Given the description of an element on the screen output the (x, y) to click on. 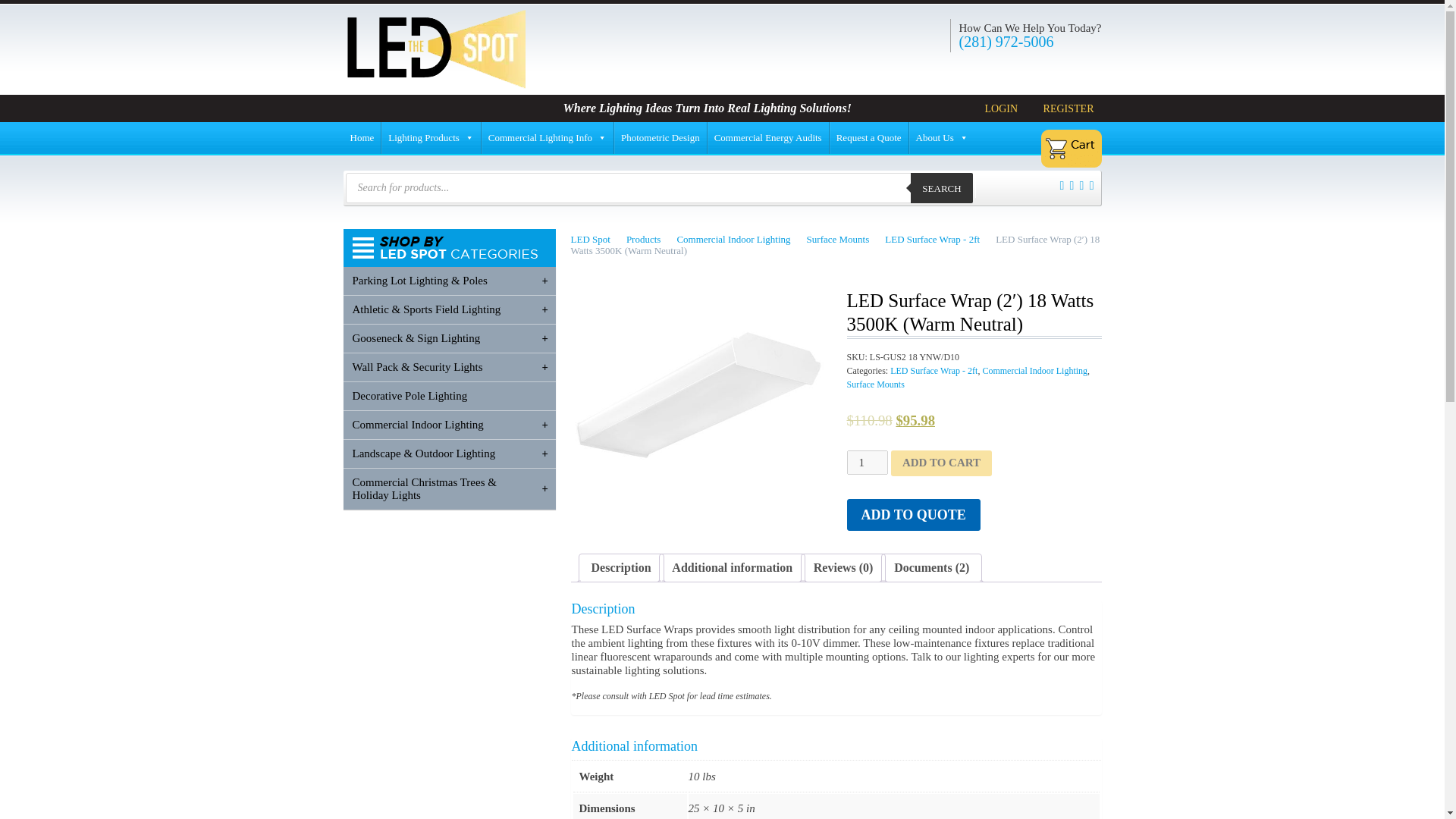
Go to Products. (650, 238)
Lighting Products (430, 137)
REGISTER (1064, 108)
Commercial Lighting Info (546, 137)
Go to the LED Surface Wrap - 2ft Category archives. (938, 238)
GUS2 (697, 398)
1 (865, 462)
Go to the Surface Mounts Category archives. (844, 238)
Go to the Commercial Indoor Lighting Category archives. (740, 238)
LOGIN (997, 108)
